Given the description of an element on the screen output the (x, y) to click on. 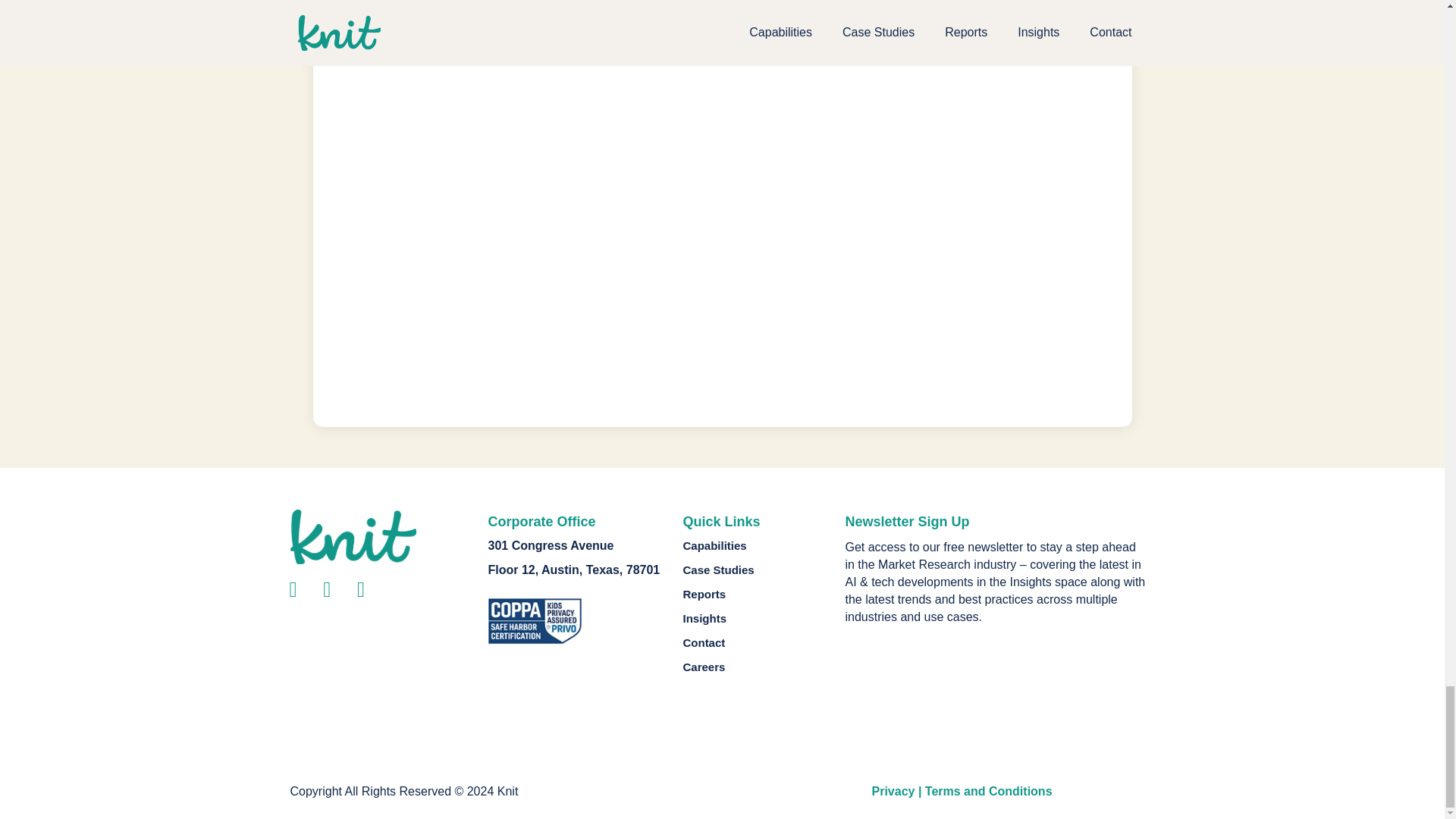
Form 1 (995, 696)
